Given the description of an element on the screen output the (x, y) to click on. 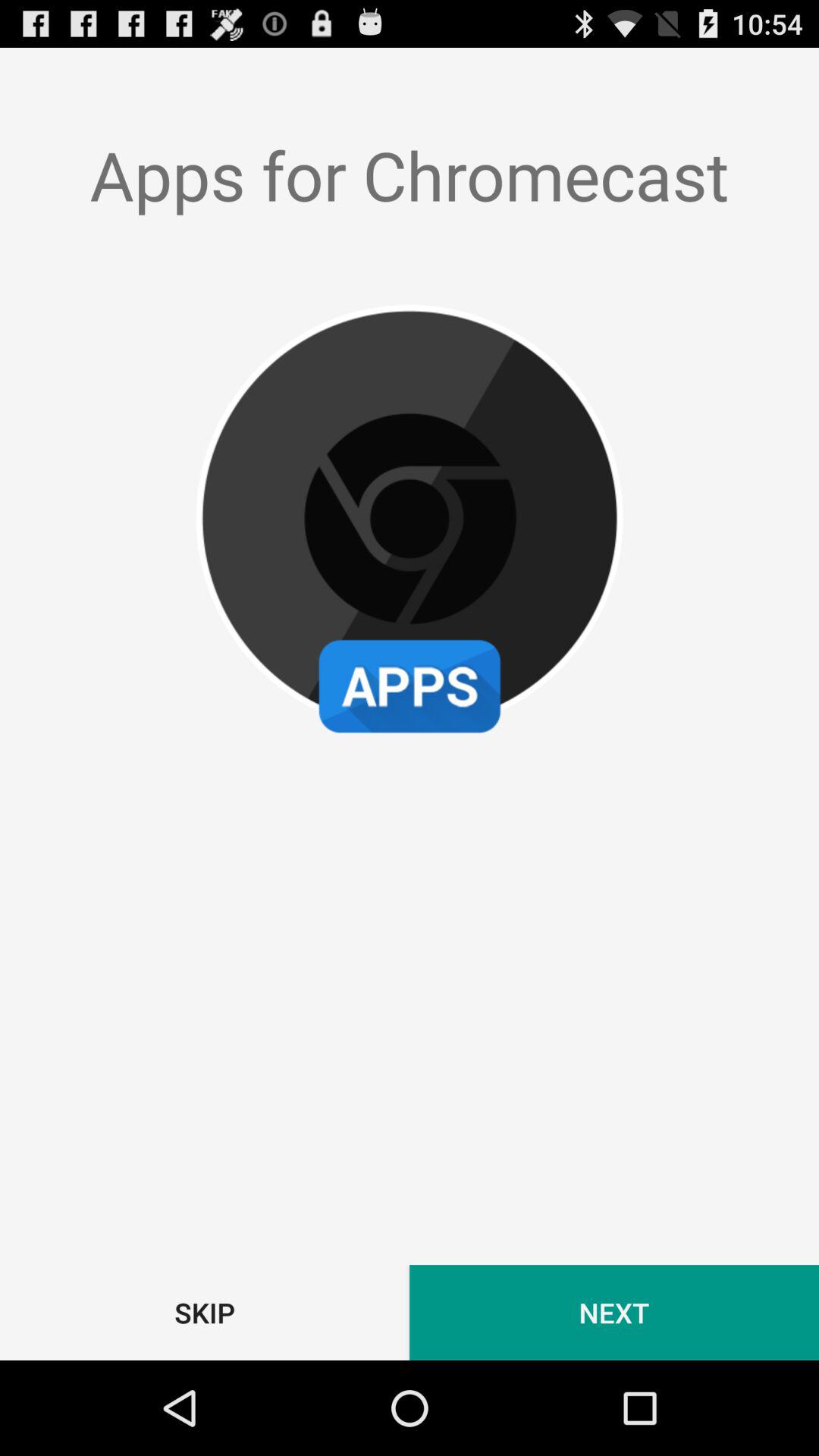
choose next at the bottom right corner (614, 1312)
